Given the description of an element on the screen output the (x, y) to click on. 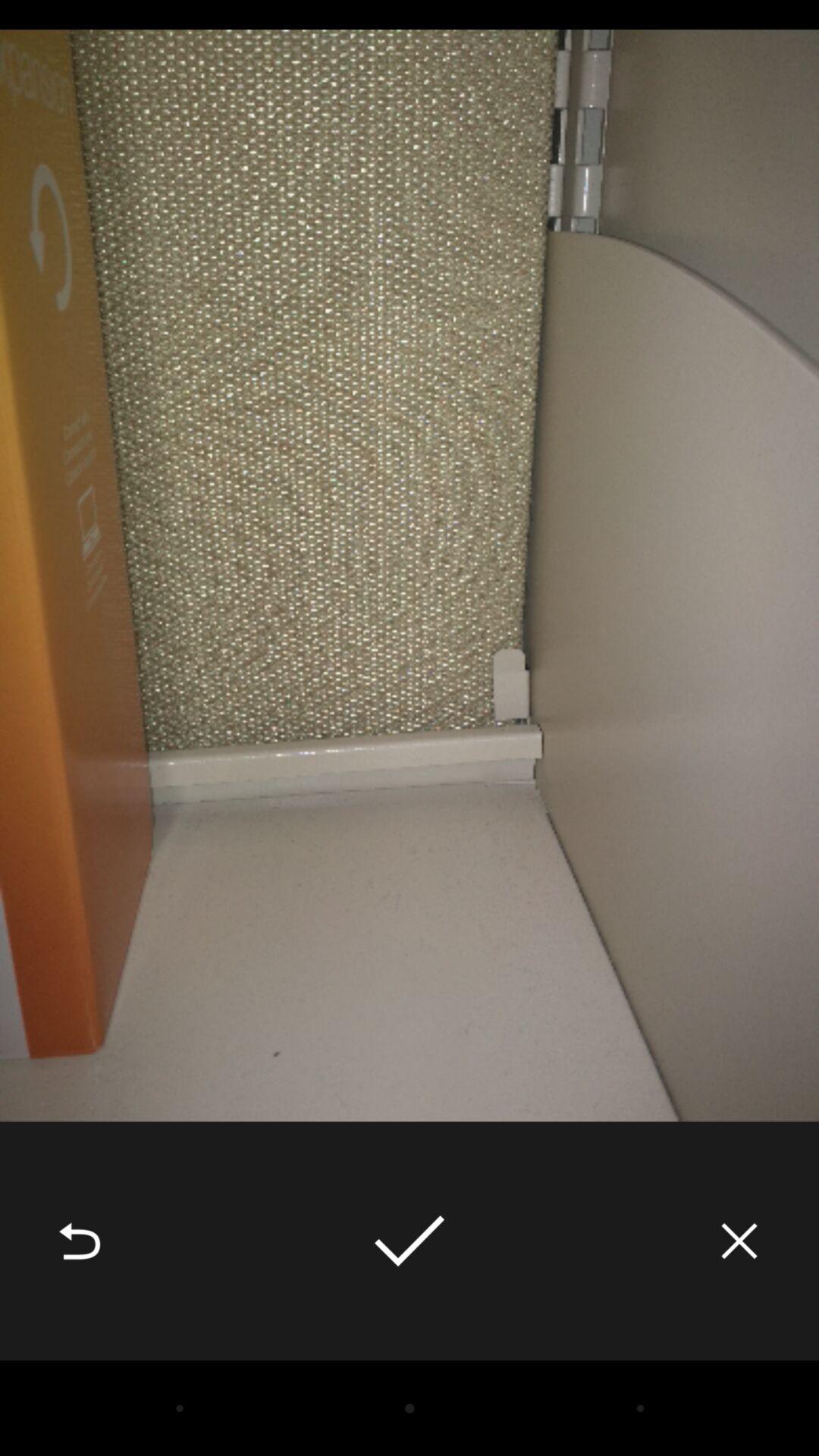
select icon at the bottom left corner (79, 1240)
